Given the description of an element on the screen output the (x, y) to click on. 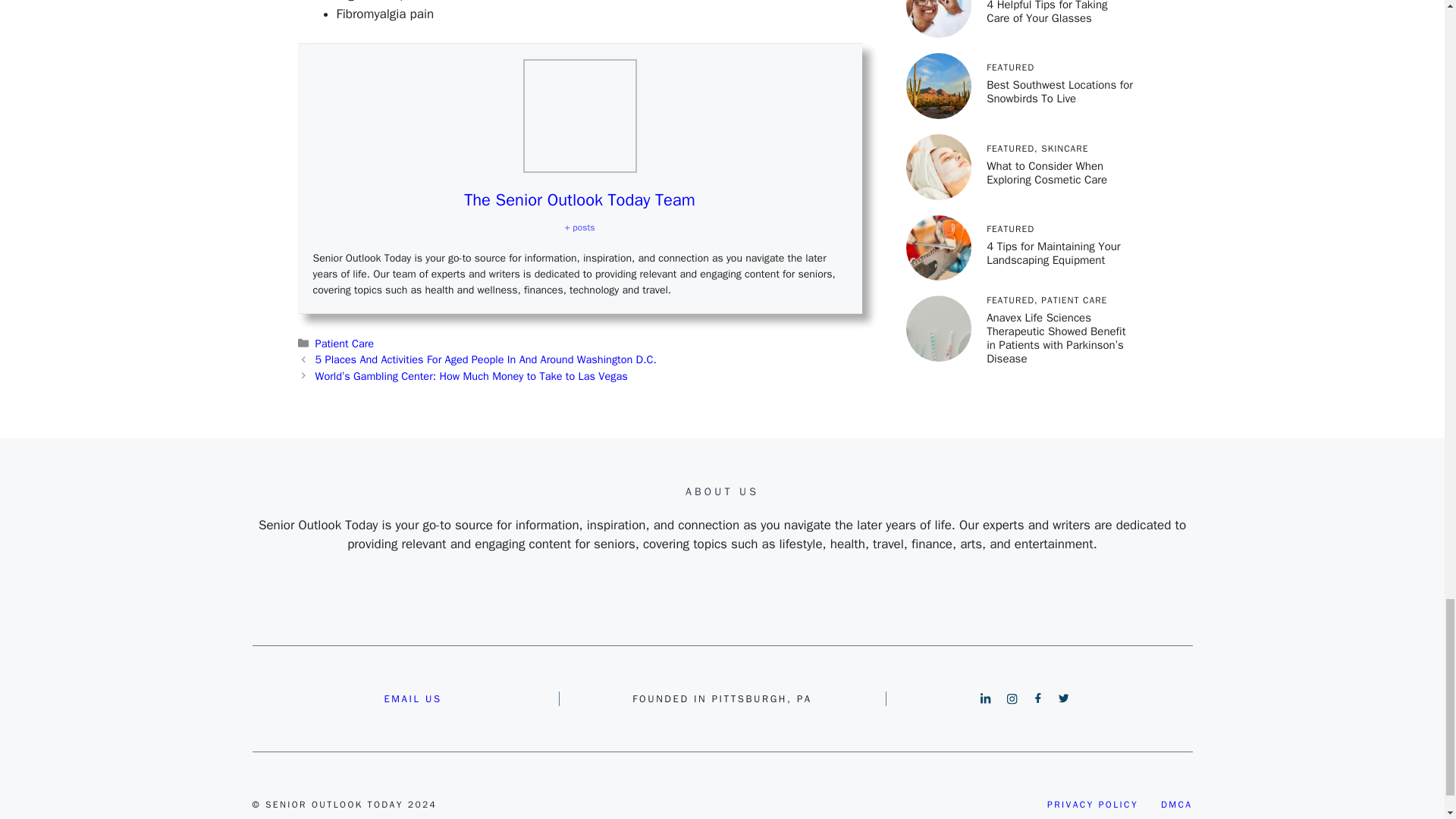
Patient Care (344, 343)
The Senior Outlook Today Team (579, 199)
Weighted Blanket Benefits for the Elderly 3 (579, 115)
